Given the description of an element on the screen output the (x, y) to click on. 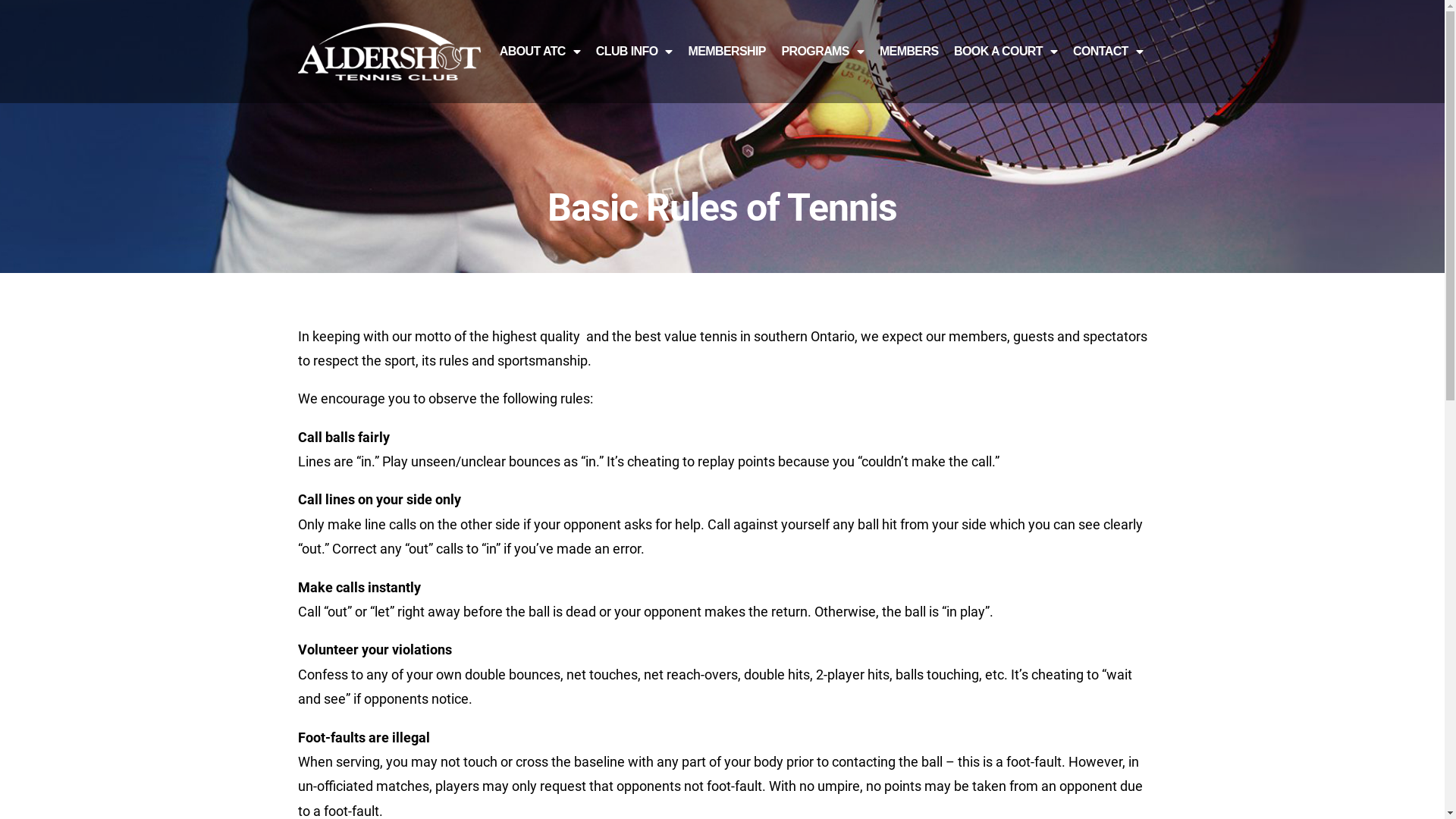
PROGRAMS Element type: text (822, 51)
BOOK A COURT Element type: text (1005, 51)
ABOUT ATC Element type: text (539, 51)
MEMBERSHIP Element type: text (726, 51)
MEMBERS Element type: text (908, 51)
CONTACT Element type: text (1108, 51)
CLUB INFO Element type: text (633, 51)
